Given the description of an element on the screen output the (x, y) to click on. 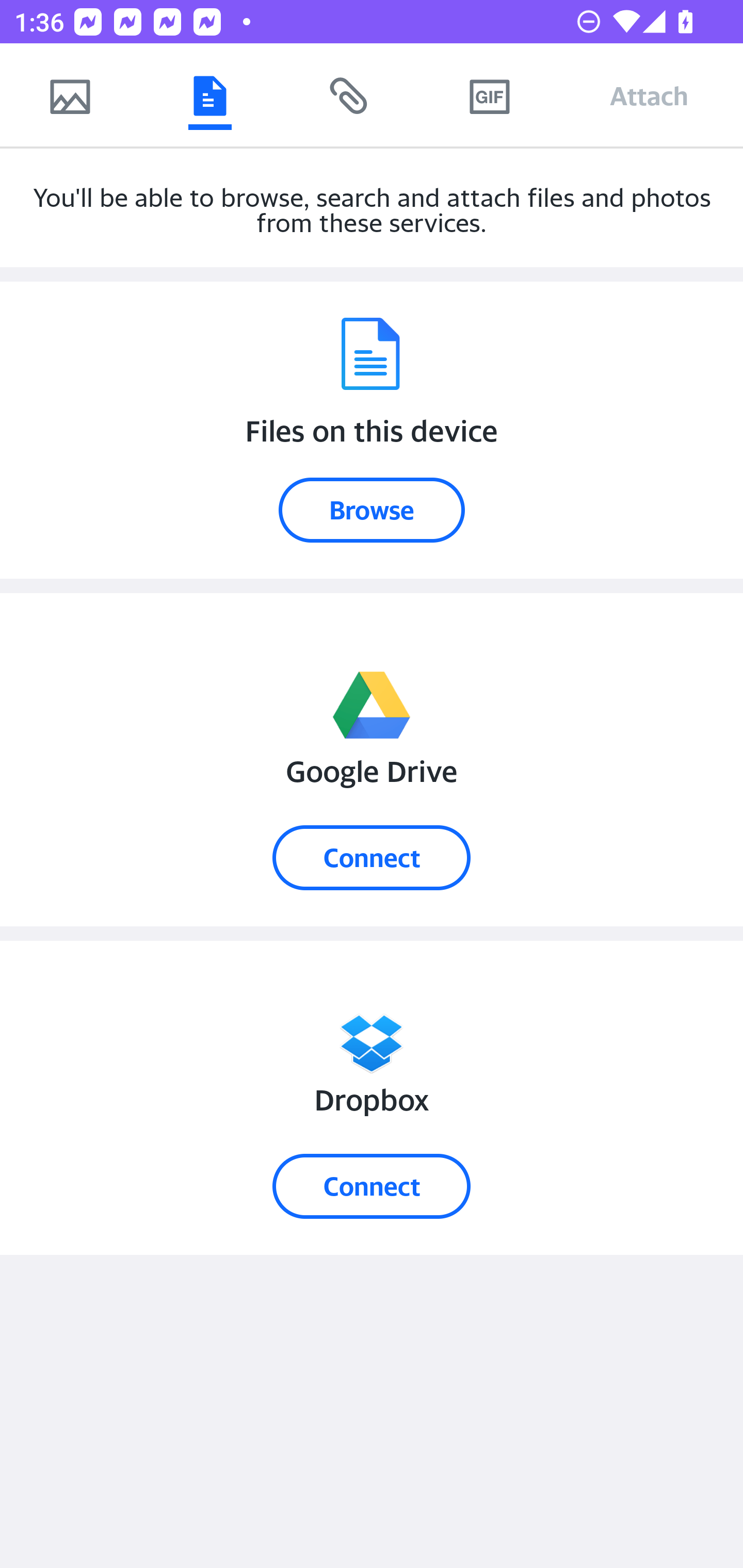
Camera photos (69, 95)
Device files (209, 95)
Recent attachments from mail (349, 95)
GIFs (489, 95)
Attach (649, 95)
Browse (371, 510)
Connect (371, 857)
Connect (371, 1186)
